Given the description of an element on the screen output the (x, y) to click on. 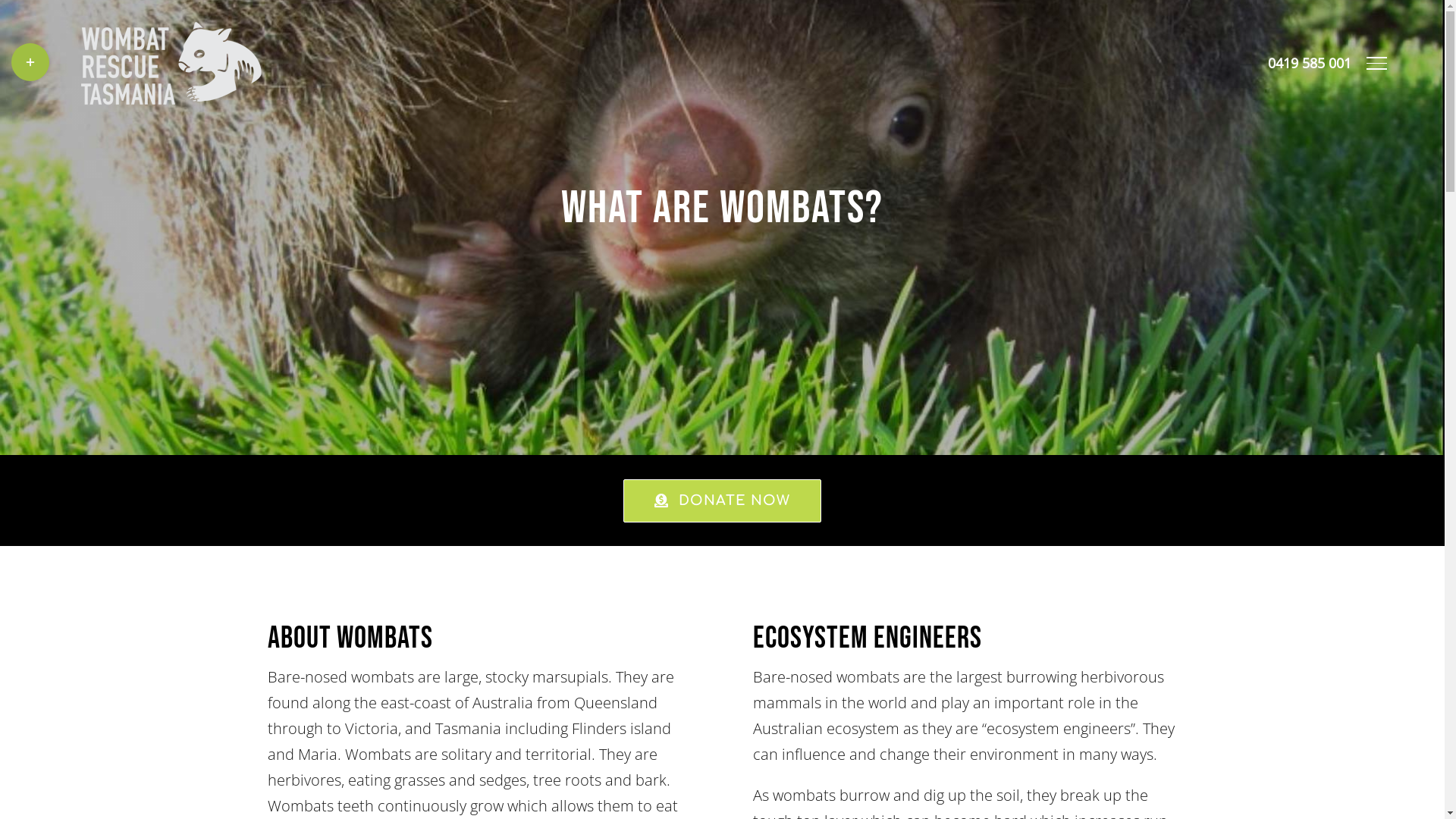
DONATE NOW Element type: text (722, 500)
0419 585 001 Element type: text (1309, 62)
Toggle Sliding Bar Area Element type: text (30, 62)
